Given the description of an element on the screen output the (x, y) to click on. 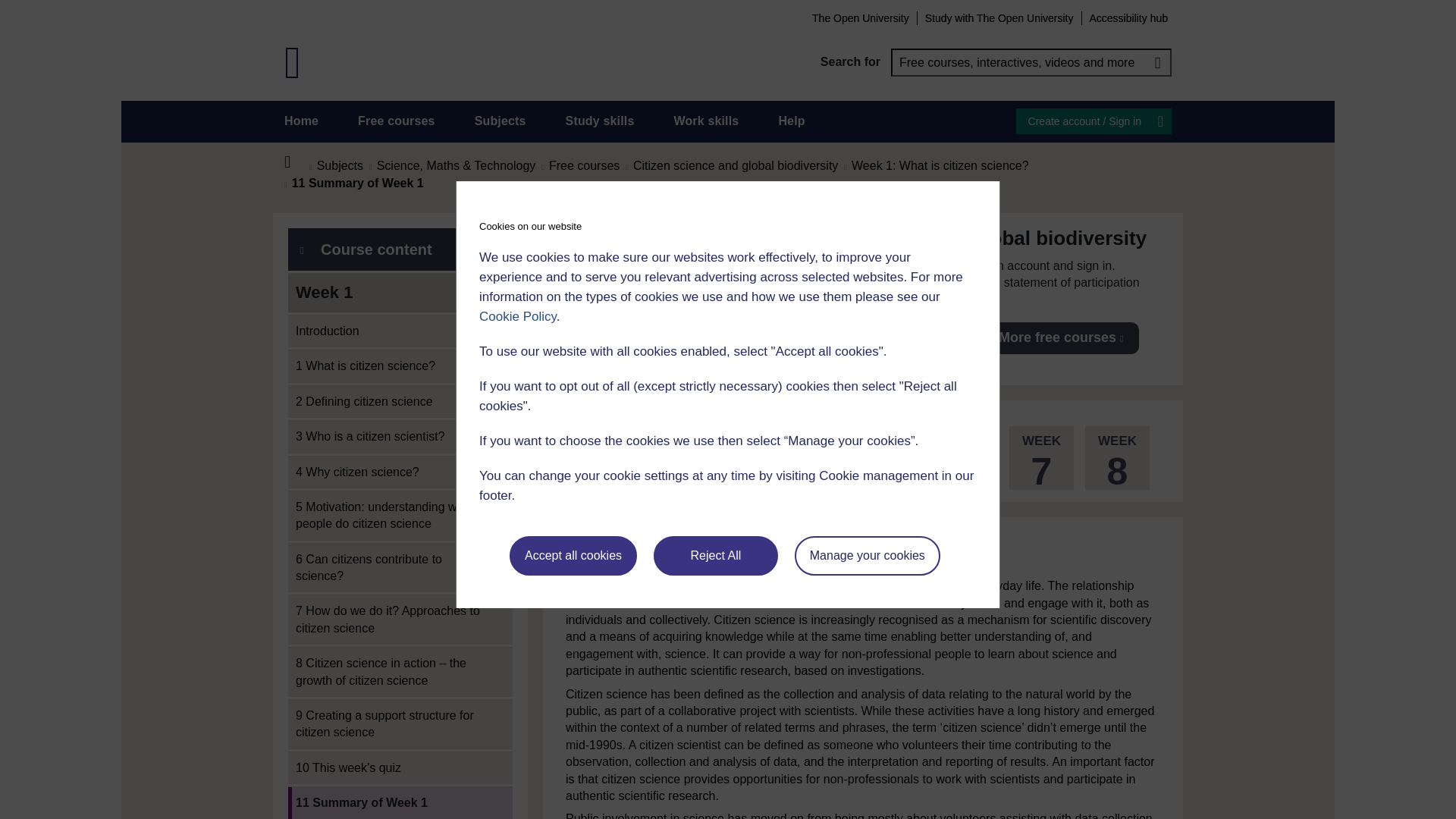
Accept all cookies (573, 555)
Reject All (715, 555)
Home (300, 120)
Cookie Policy (517, 316)
Search (1157, 62)
Free courses (396, 120)
Home (295, 162)
The Open University (860, 17)
Subjects (499, 120)
Work skills (705, 120)
Help (791, 120)
Manage your cookies (867, 555)
Study skills (600, 120)
Study with The Open University (999, 17)
Accessibility hub (1129, 17)
